Given the description of an element on the screen output the (x, y) to click on. 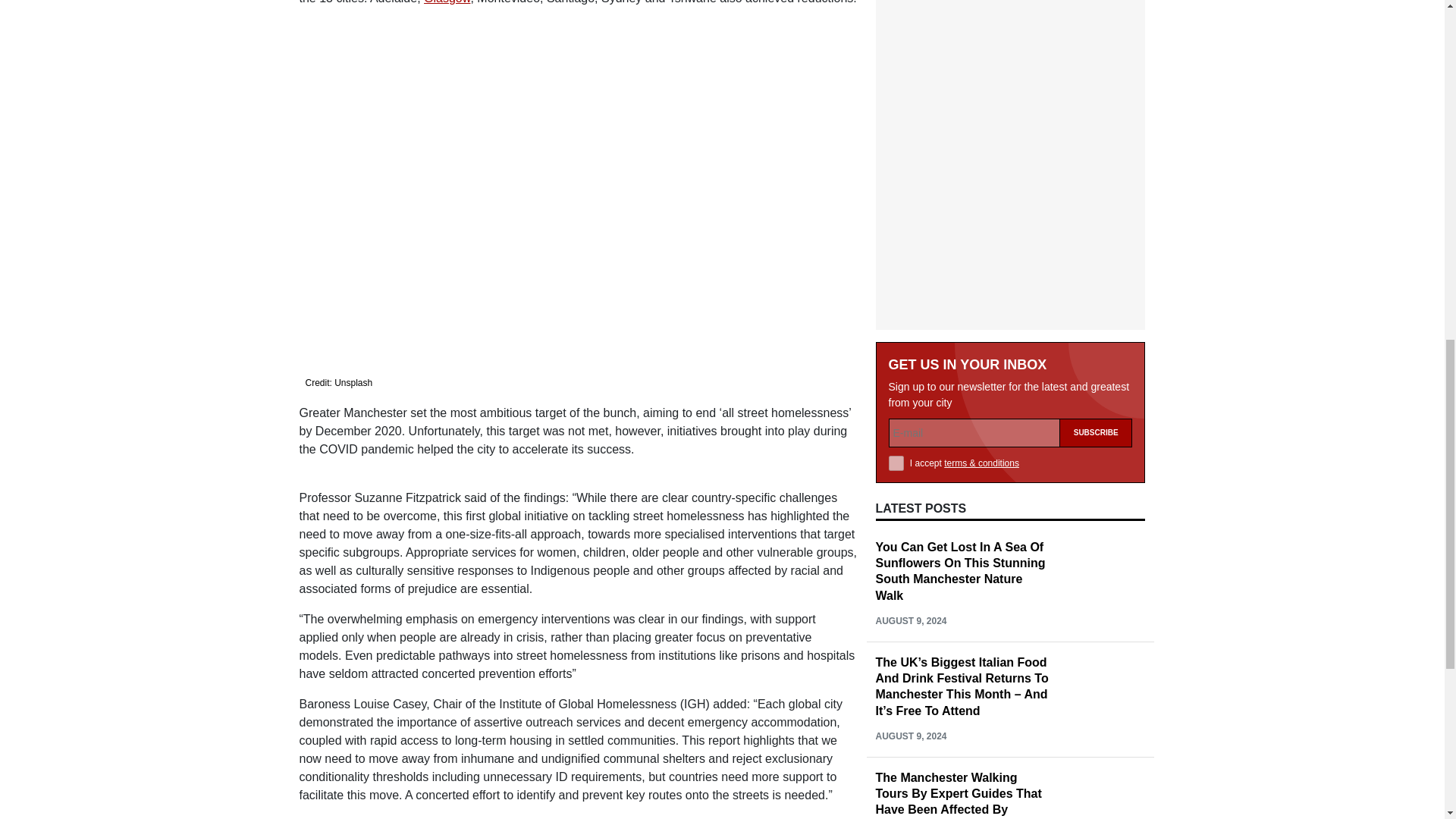
Subscribe (1095, 340)
AUGUST 9, 2024 (910, 644)
Subscribe (1095, 340)
AUGUST 9, 2024 (910, 759)
1 (896, 371)
AUGUST 9, 2024 (910, 529)
Glasgow (446, 2)
